Given the description of an element on the screen output the (x, y) to click on. 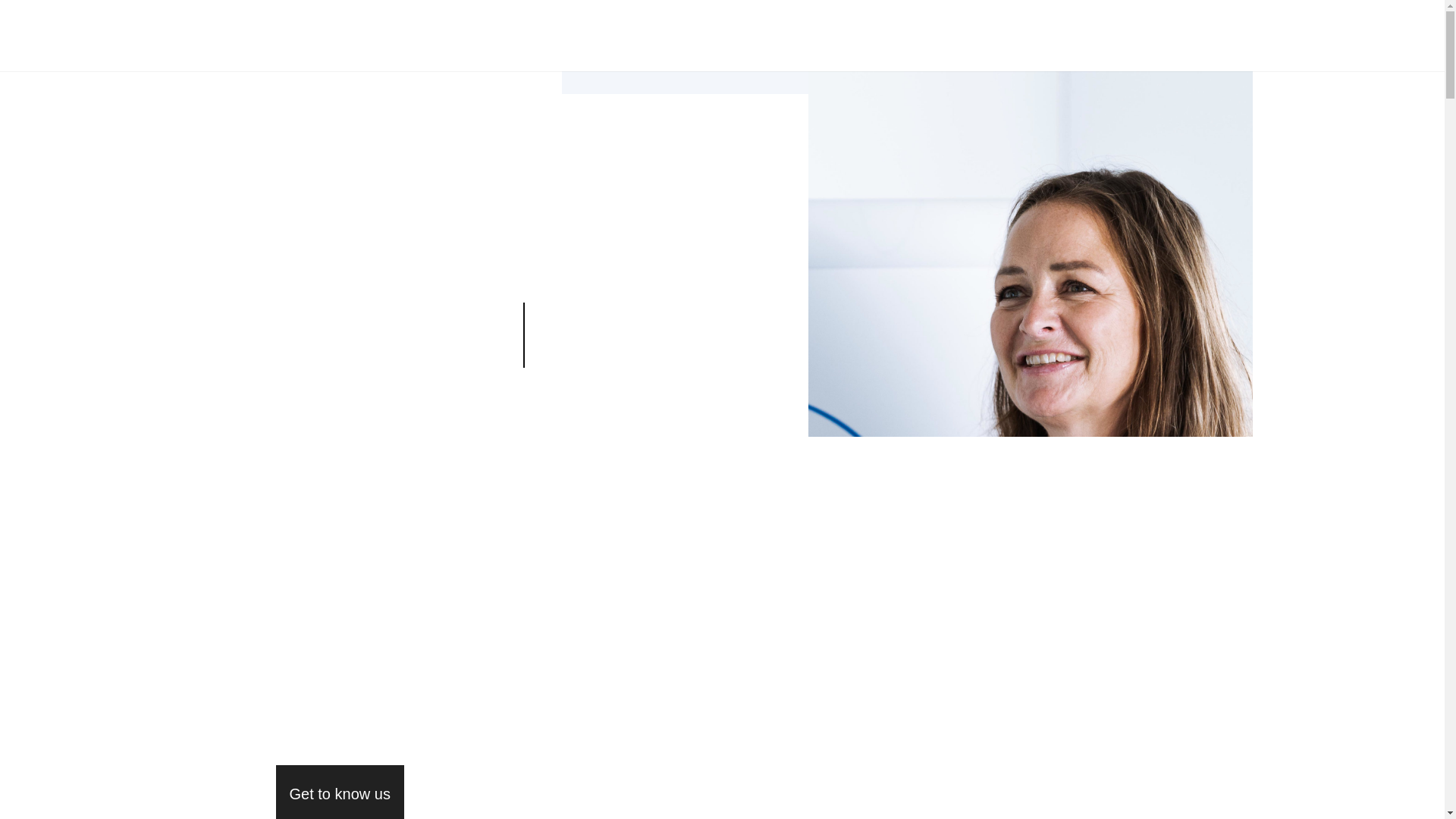
Get to know us (340, 791)
